Given the description of an element on the screen output the (x, y) to click on. 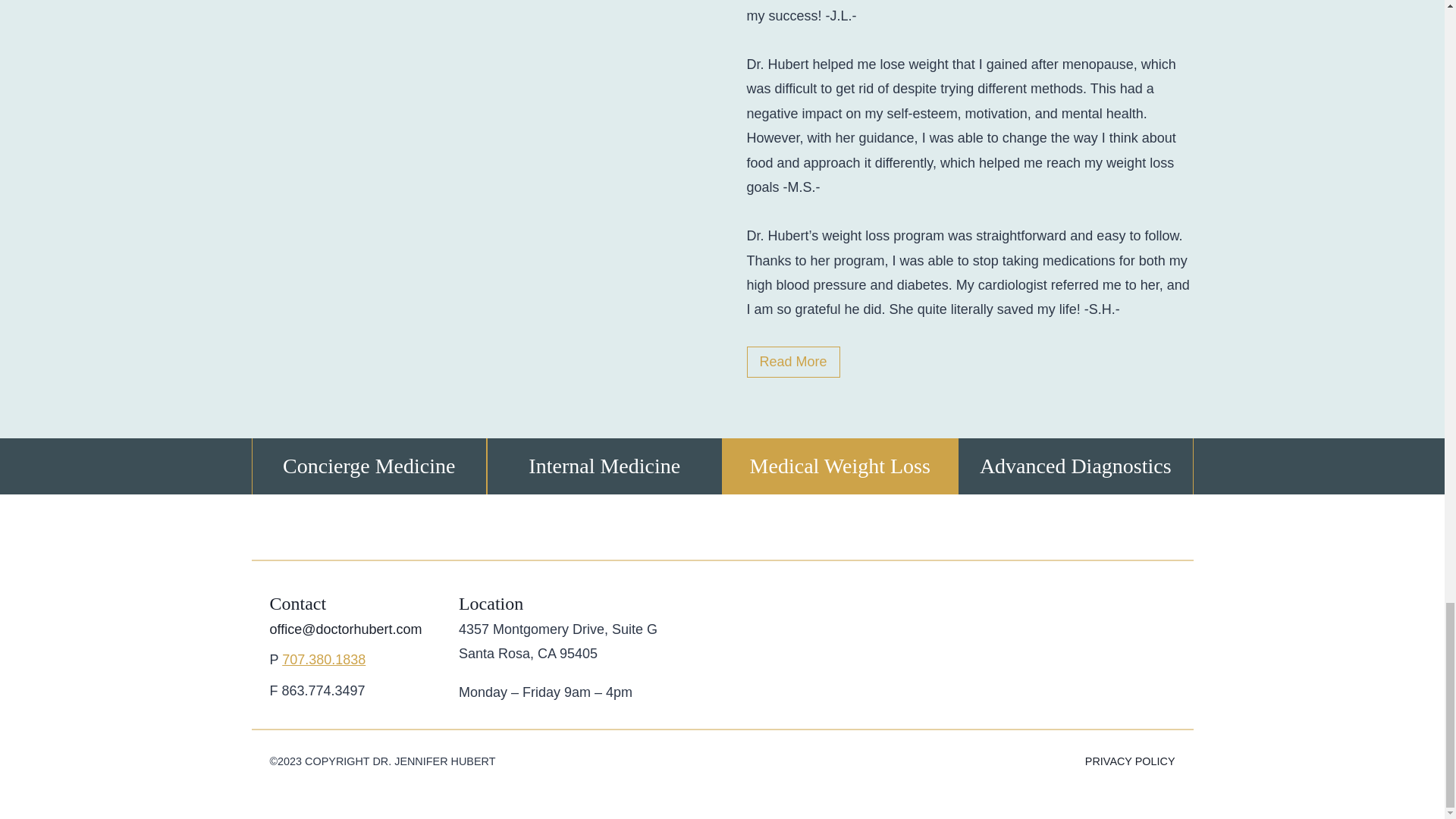
PRIVACY POLICY (953, 762)
Read More (792, 361)
707.380.1838 (323, 659)
